Given the description of an element on the screen output the (x, y) to click on. 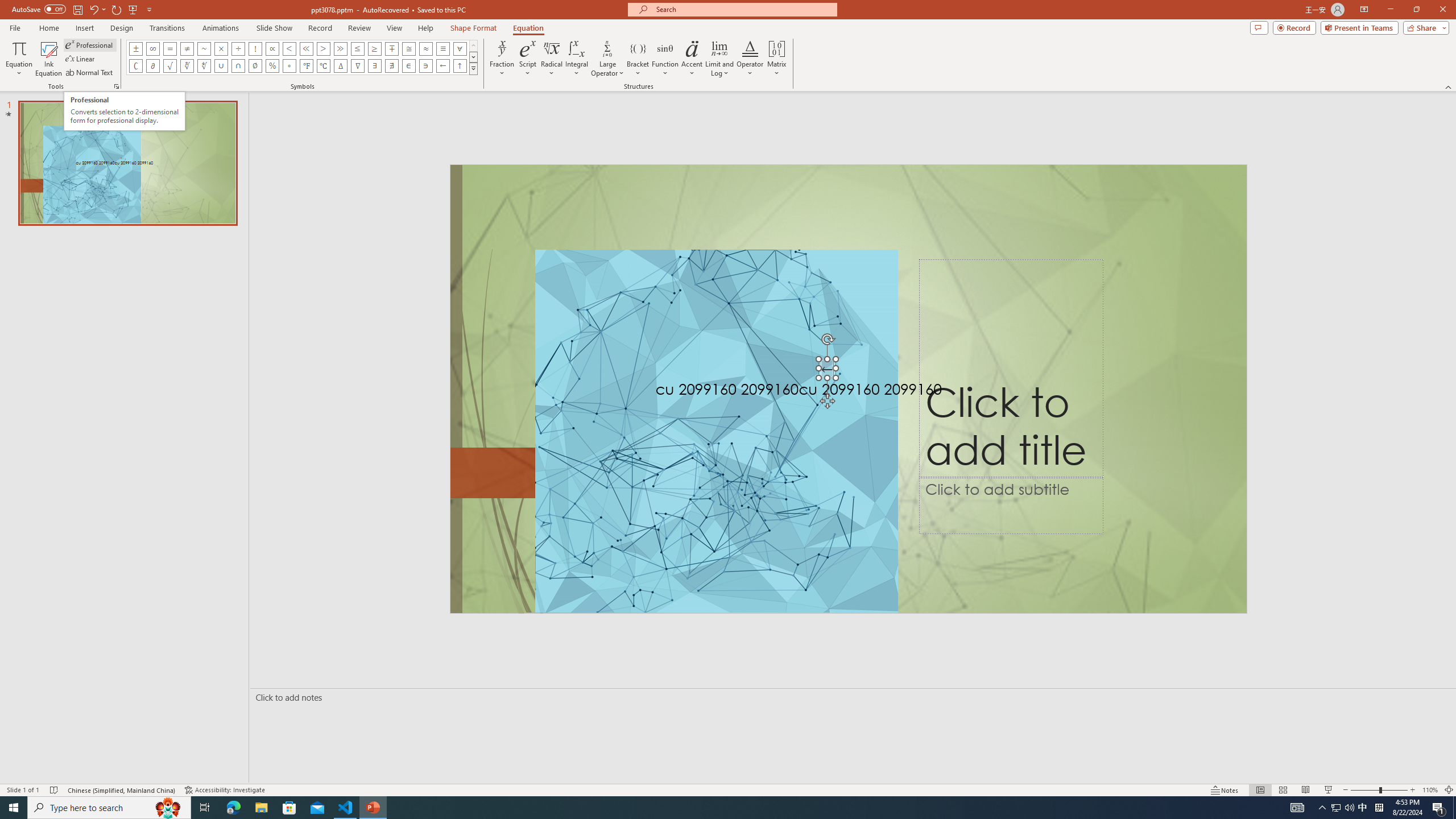
Equation Symbol Greater Than (322, 48)
Equation Symbol Identical To (442, 48)
Equation Symbol Contains as Member (425, 65)
Accent (691, 58)
Equation Symbol Fourth Root (203, 65)
Equation (528, 28)
Matrix (776, 58)
Equation Symbol Minus Plus (391, 48)
Equation Symbols (472, 68)
